Given the description of an element on the screen output the (x, y) to click on. 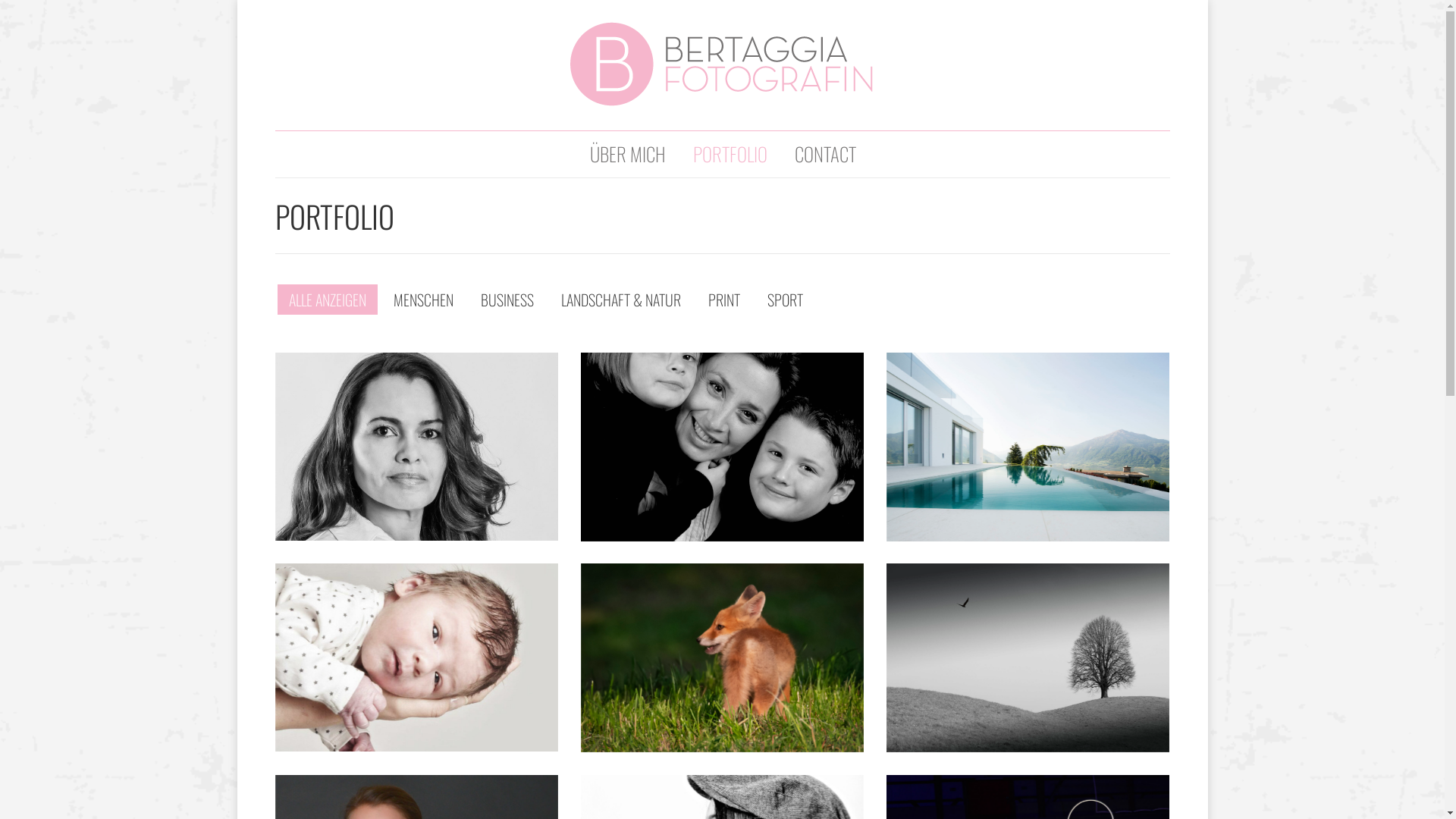
bertaggia-fotografie_bewerbungsbilder-5 Element type: hover (415, 446)
BERTAGGIA-FOTOGRAFIE_TIER13 Element type: hover (721, 657)
SPORT Element type: text (784, 299)
PRINT Element type: text (723, 299)
ALLE ANZEIGEN Element type: text (327, 299)
MENSCHEN Element type: text (423, 299)
PORTFOLIO Element type: text (729, 156)
bertaggia-fotografie_karten-6 Element type: hover (415, 657)
BERTAGGIA-FOTOGRAFIE_IMMOBILIENDOKUMENTATION Element type: hover (1026, 446)
BUSINESS Element type: text (506, 299)
bertaggia-fotografie_bewerbungsbilder-5 Element type: hover (415, 446)
LANDSCHAFT & NATUR Element type: text (620, 299)
bertaggia-fotografie_familienbande-9 Element type: hover (721, 446)
bertaggia-fotografie_karten-6 Element type: hover (415, 657)
BERTAGGIA-FOTOGRAFIE_LANDSCHAFT-NATUR31 Element type: hover (1026, 657)
CONTACT Element type: text (824, 156)
